Given the description of an element on the screen output the (x, y) to click on. 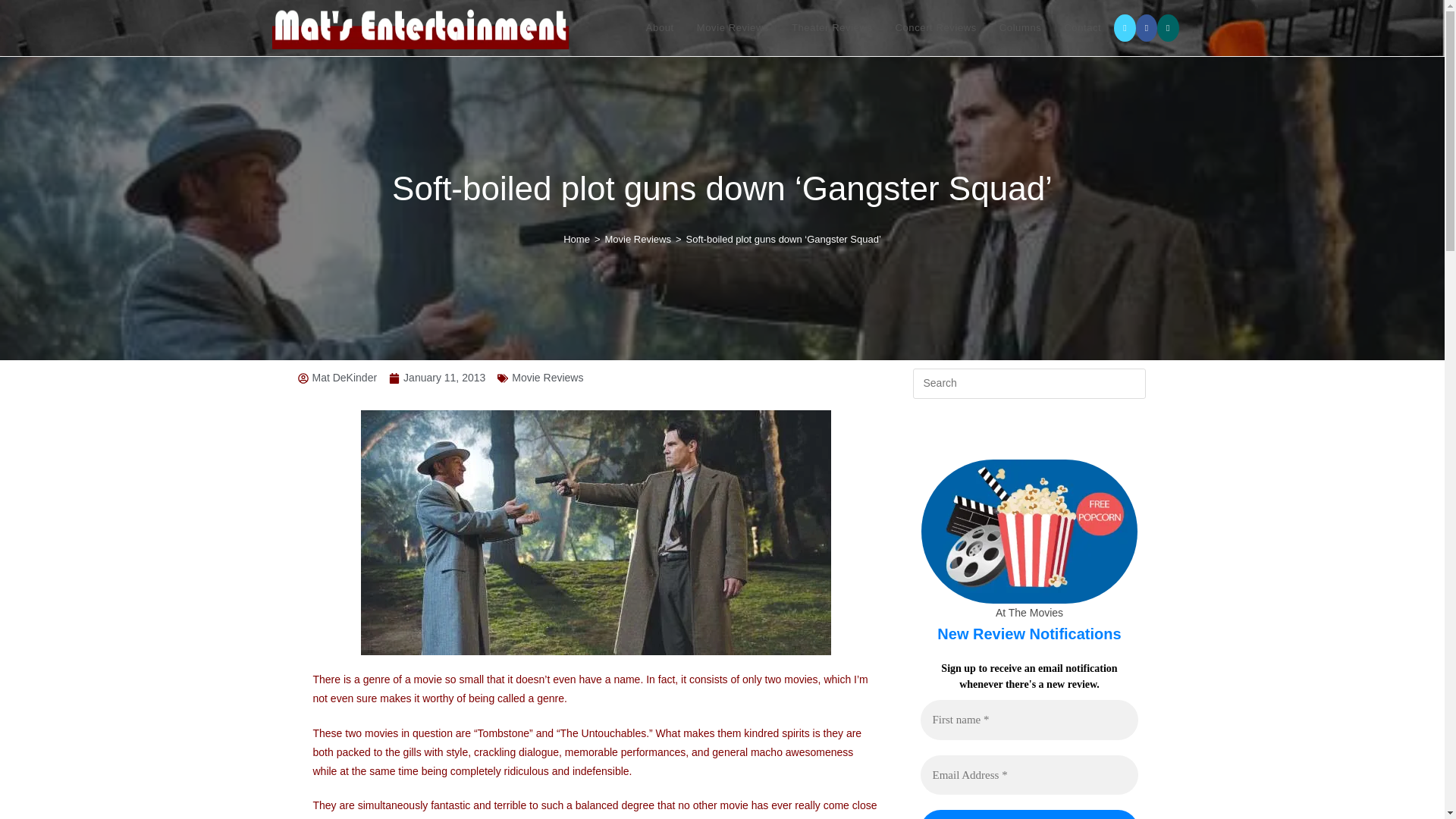
January 11, 2013 (436, 377)
Movie Reviews (732, 28)
Sign Up Now! (1028, 814)
Theater Reviews (831, 28)
About (659, 28)
Home (576, 238)
First name (1028, 720)
Mat DeKinder (337, 377)
Email Address (1028, 775)
Sign Up Now! (1028, 814)
Movie Reviews (547, 377)
Columns (1020, 28)
Concert Reviews (935, 28)
Contact (1082, 28)
Movie Reviews (636, 238)
